Given the description of an element on the screen output the (x, y) to click on. 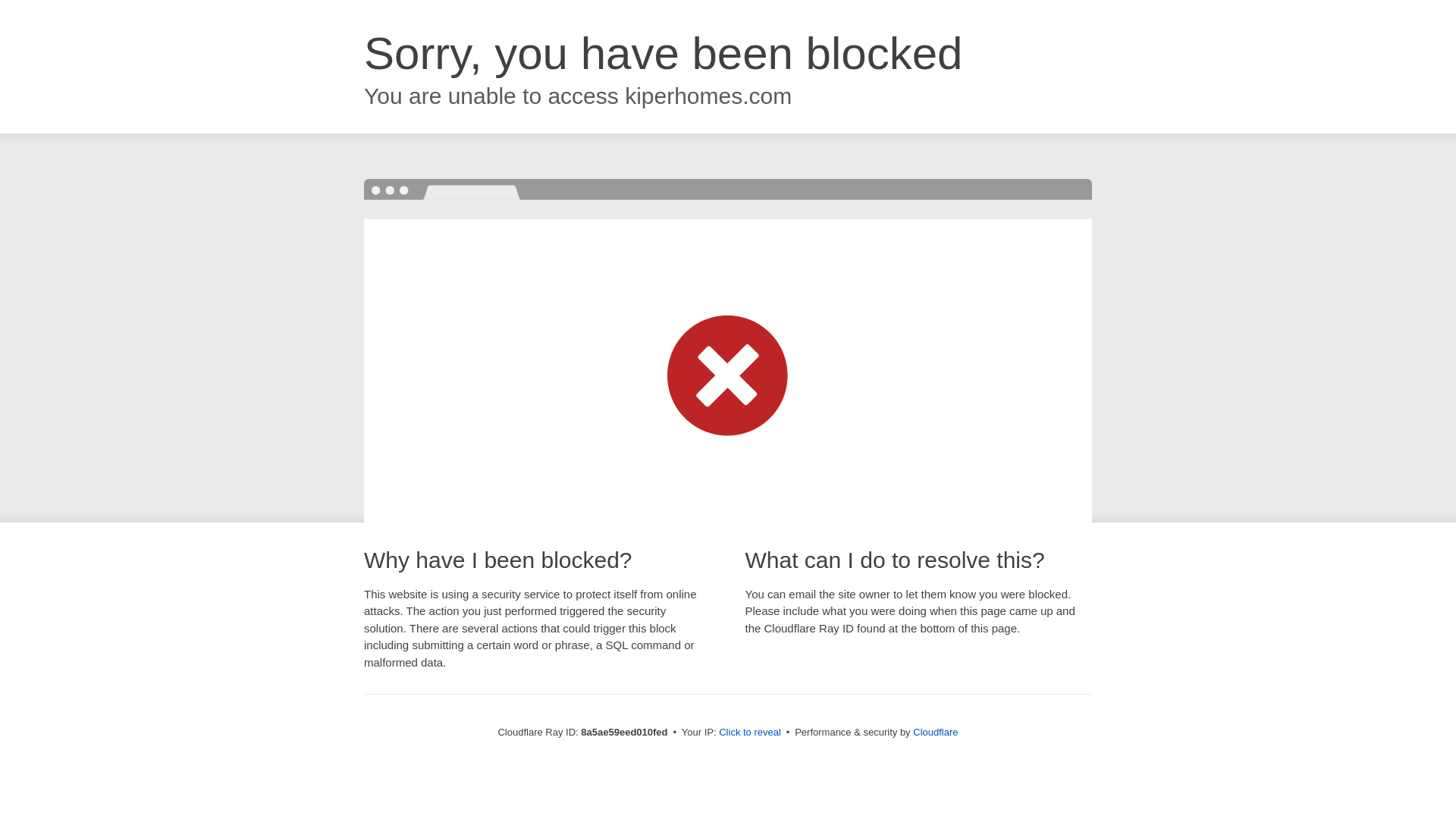
Click to reveal (749, 732)
Cloudflare (935, 731)
